Given the description of an element on the screen output the (x, y) to click on. 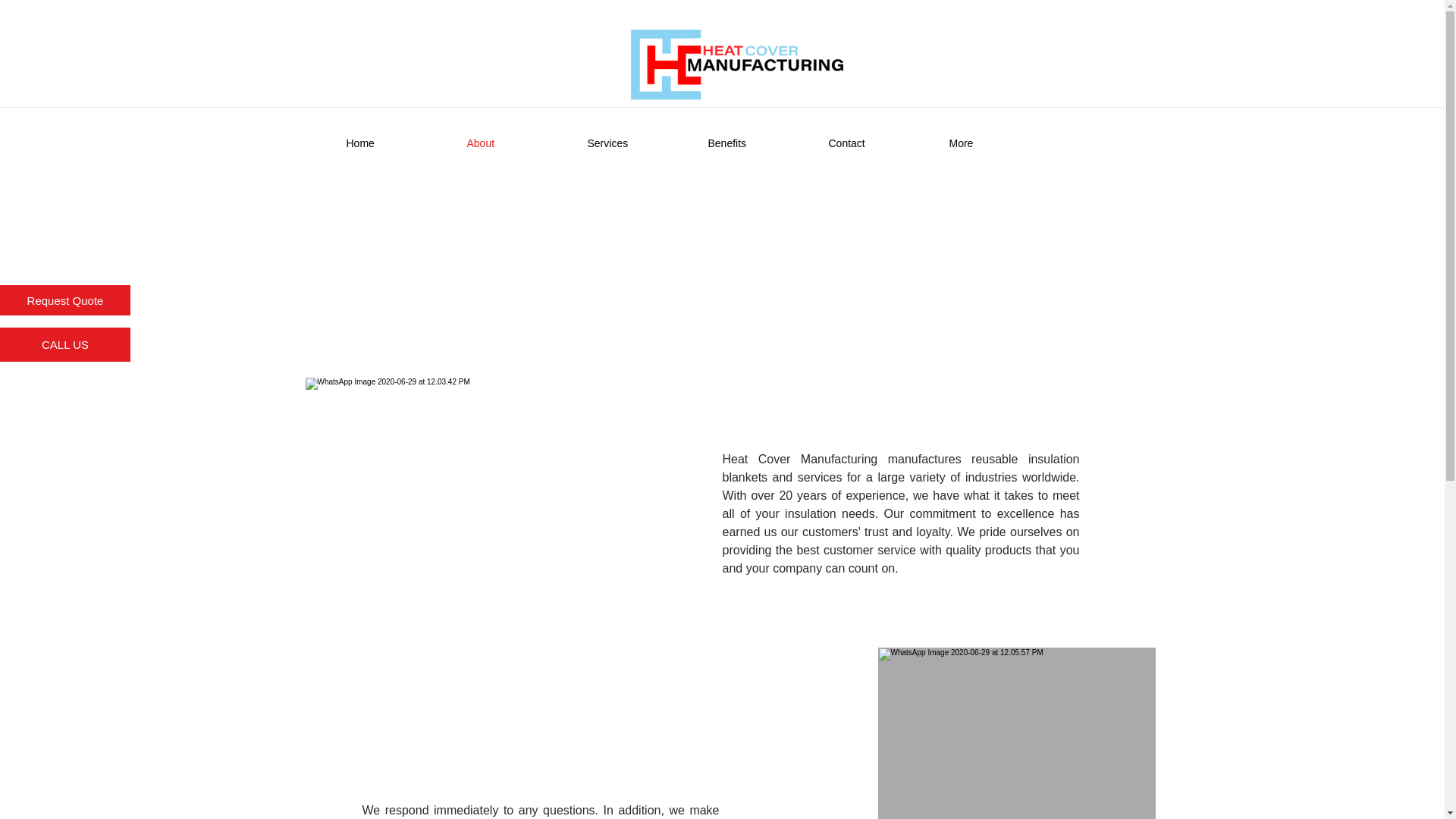
Home (394, 143)
Services (636, 143)
About (514, 143)
Benefits (755, 143)
Request Quote (65, 300)
Contact (876, 143)
CALL US (65, 344)
